Given the description of an element on the screen output the (x, y) to click on. 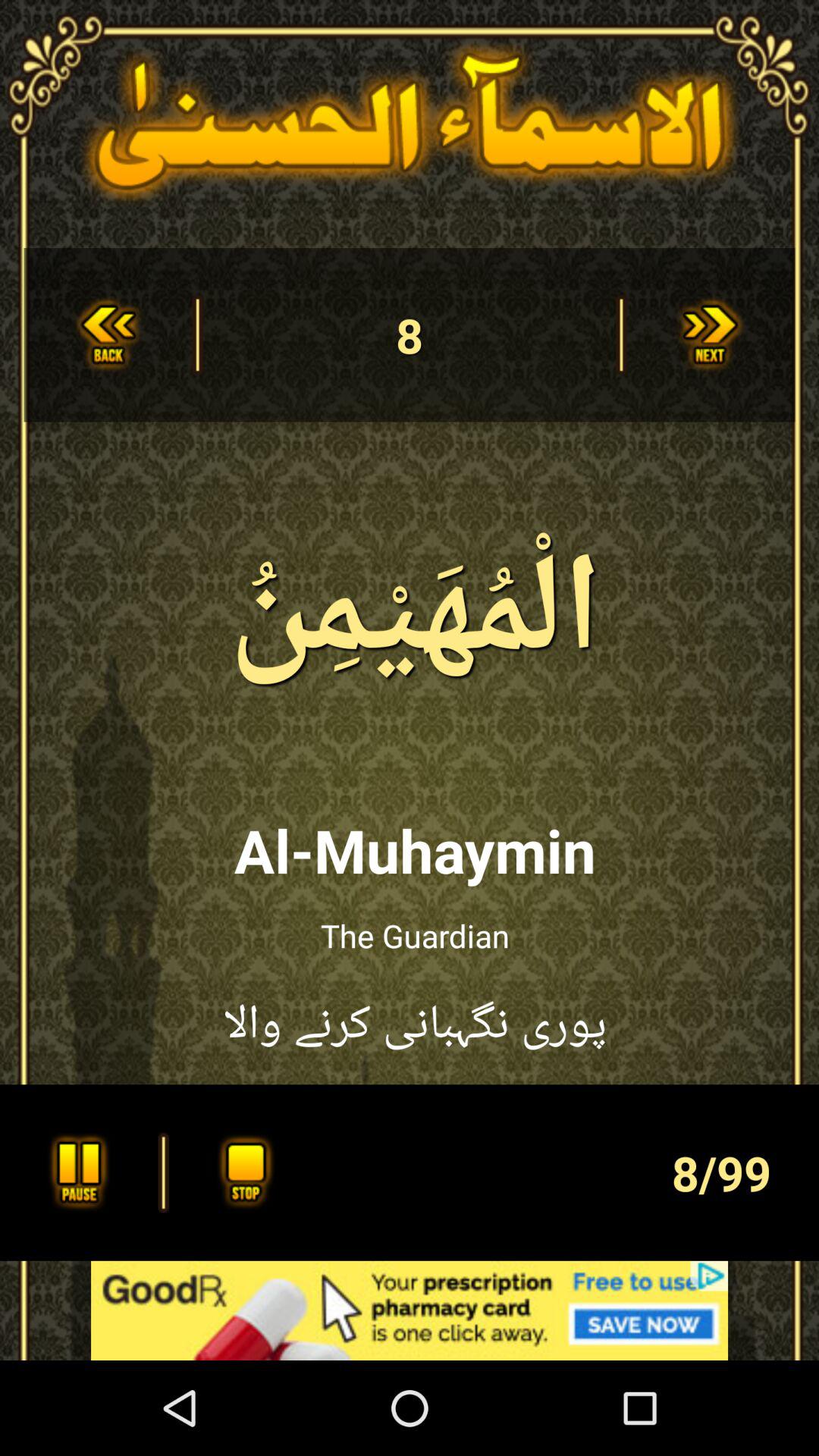
advertisement (409, 1310)
